Given the description of an element on the screen output the (x, y) to click on. 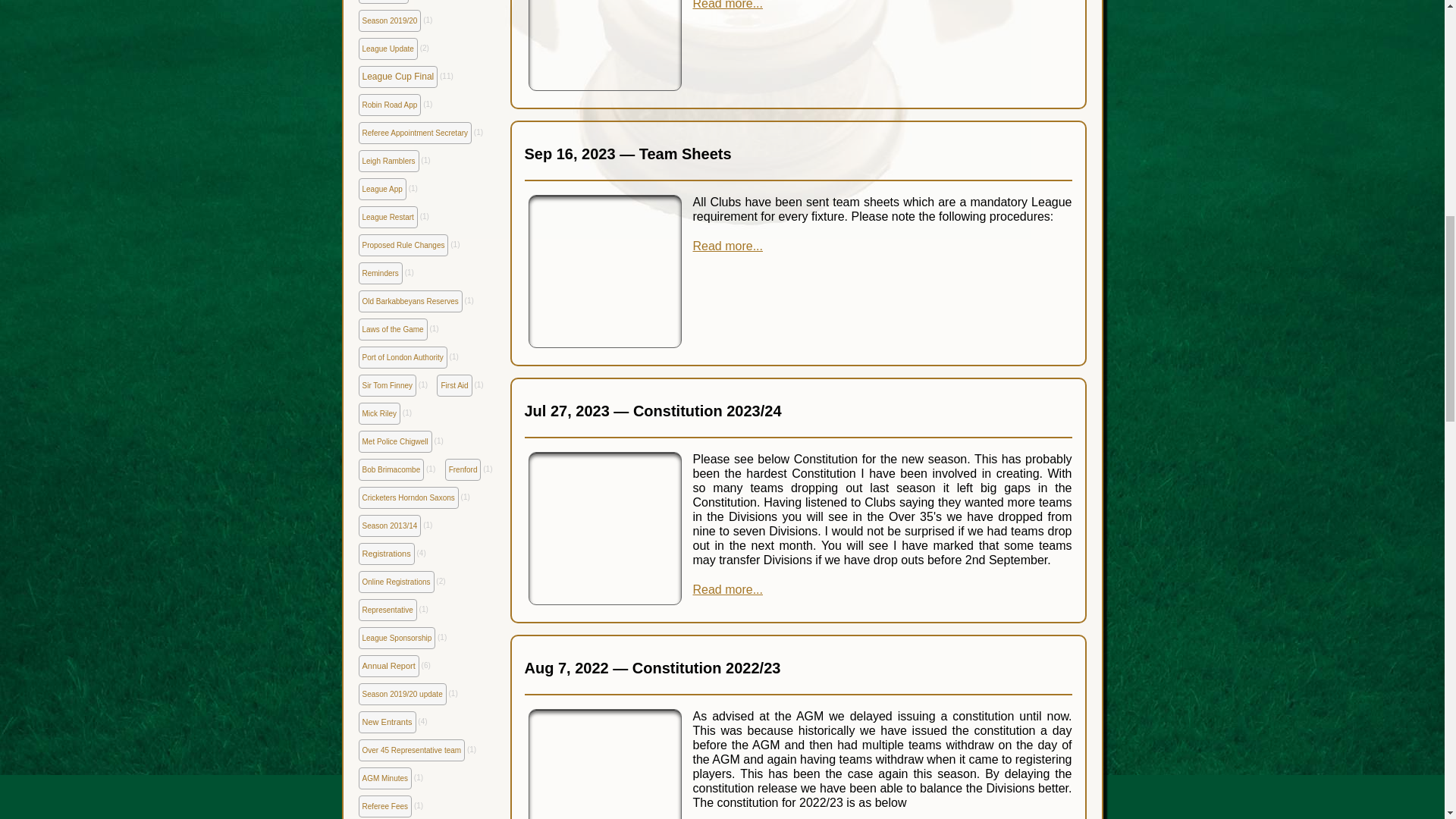
League Update (387, 48)
Leigh Ramblers (388, 160)
Referee Appointment Secretary (414, 133)
League App (382, 188)
League Restart (387, 217)
Robin Road App (389, 105)
Reminders (379, 273)
Proposed Rule Changes (403, 245)
League Cup Final (398, 76)
Old Barkabbeyans Reserves (409, 301)
Terry Murray (382, 2)
